Given the description of an element on the screen output the (x, y) to click on. 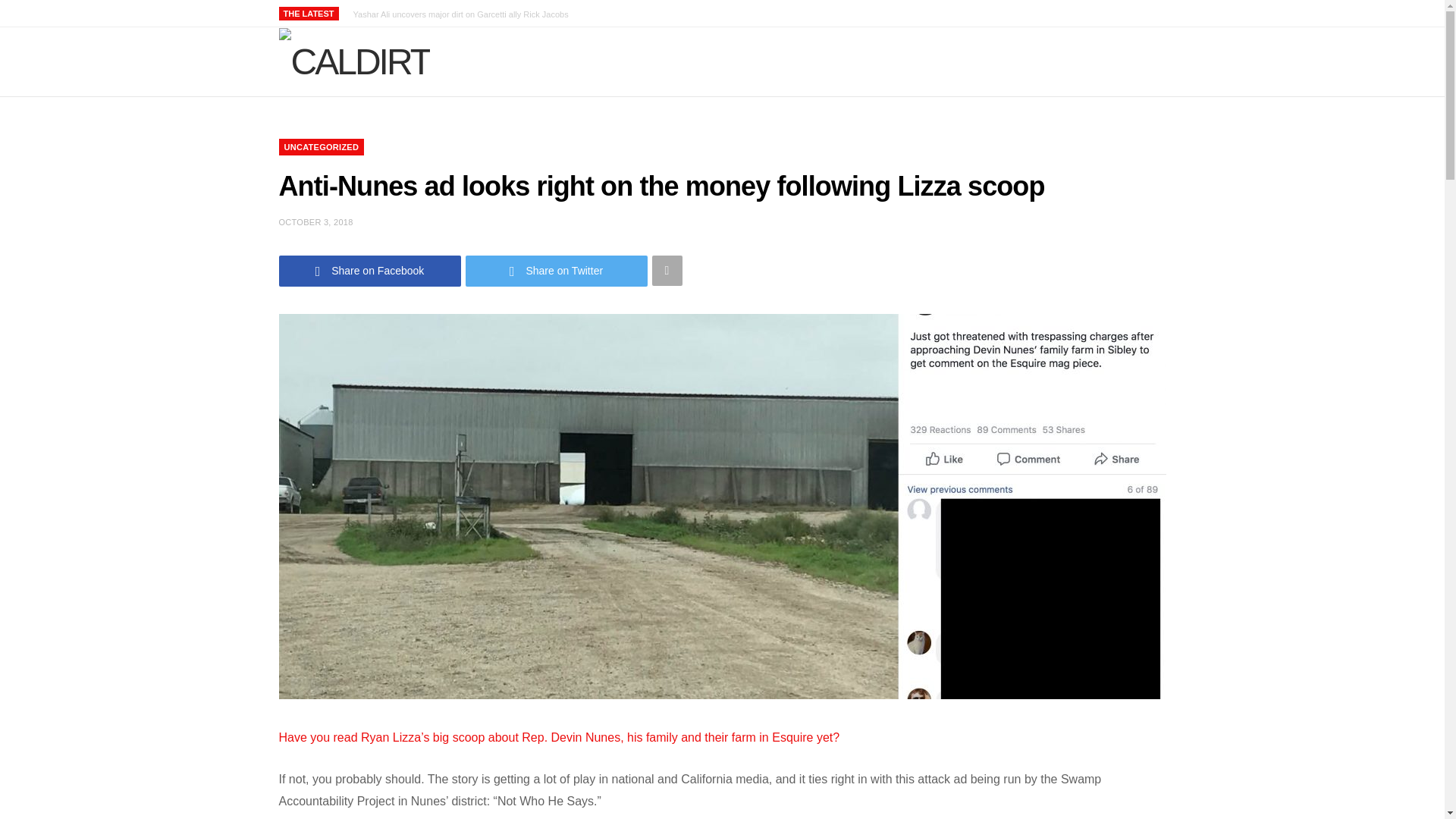
Share on Facebook (370, 270)
CalDirt (354, 61)
Share on Twitter (556, 270)
Share on Facebook (370, 270)
Share on Twitter (556, 270)
OCTOBER 3, 2018 (316, 221)
Yashar Ali uncovers major dirt on Garcetti ally Rick Jacobs (464, 14)
Yashar Ali uncovers major dirt on Garcetti ally Rick Jacobs (464, 14)
UNCATEGORIZED (322, 146)
